Given the description of an element on the screen output the (x, y) to click on. 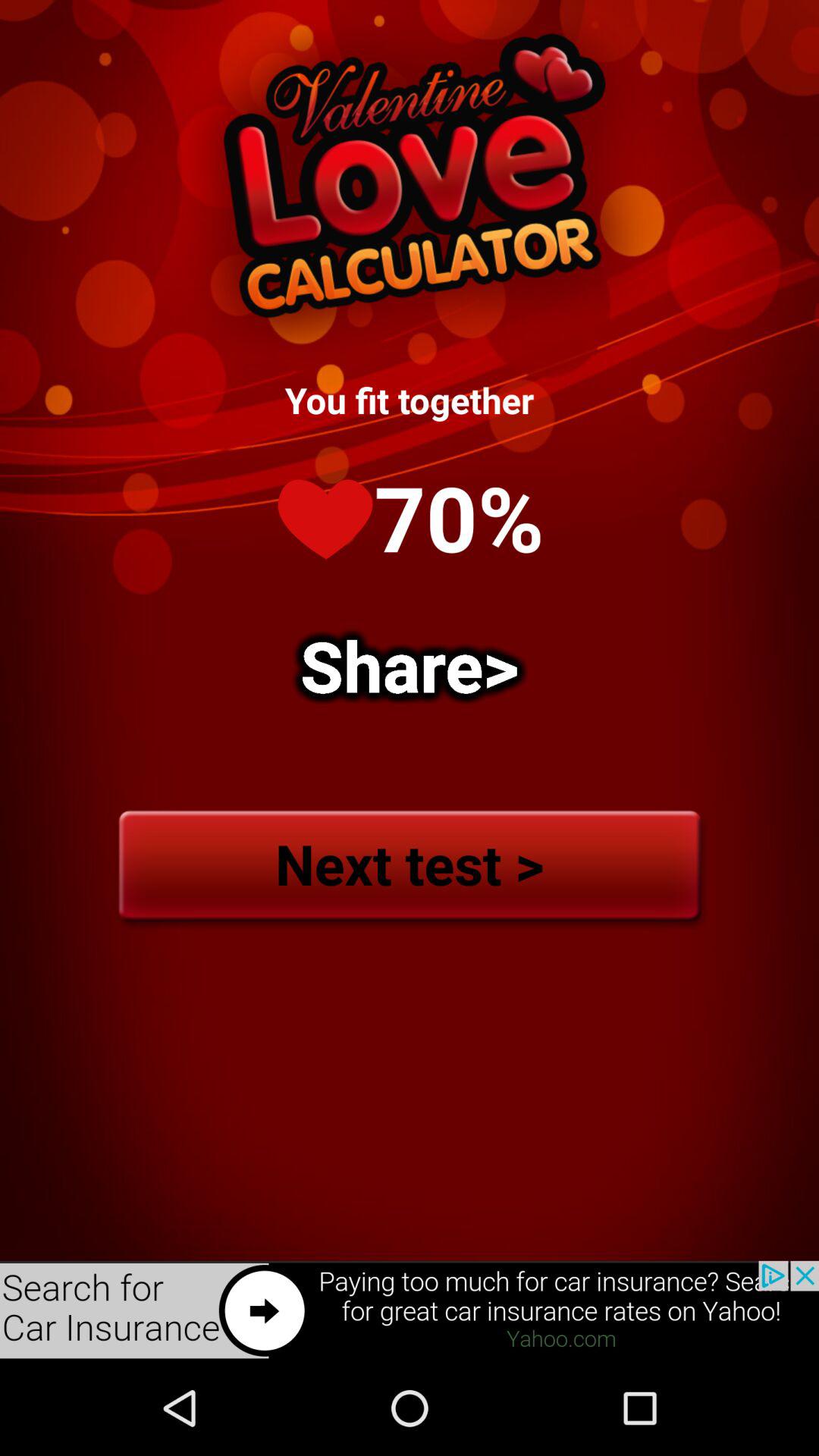
advertisement search just play (409, 1310)
